Given the description of an element on the screen output the (x, y) to click on. 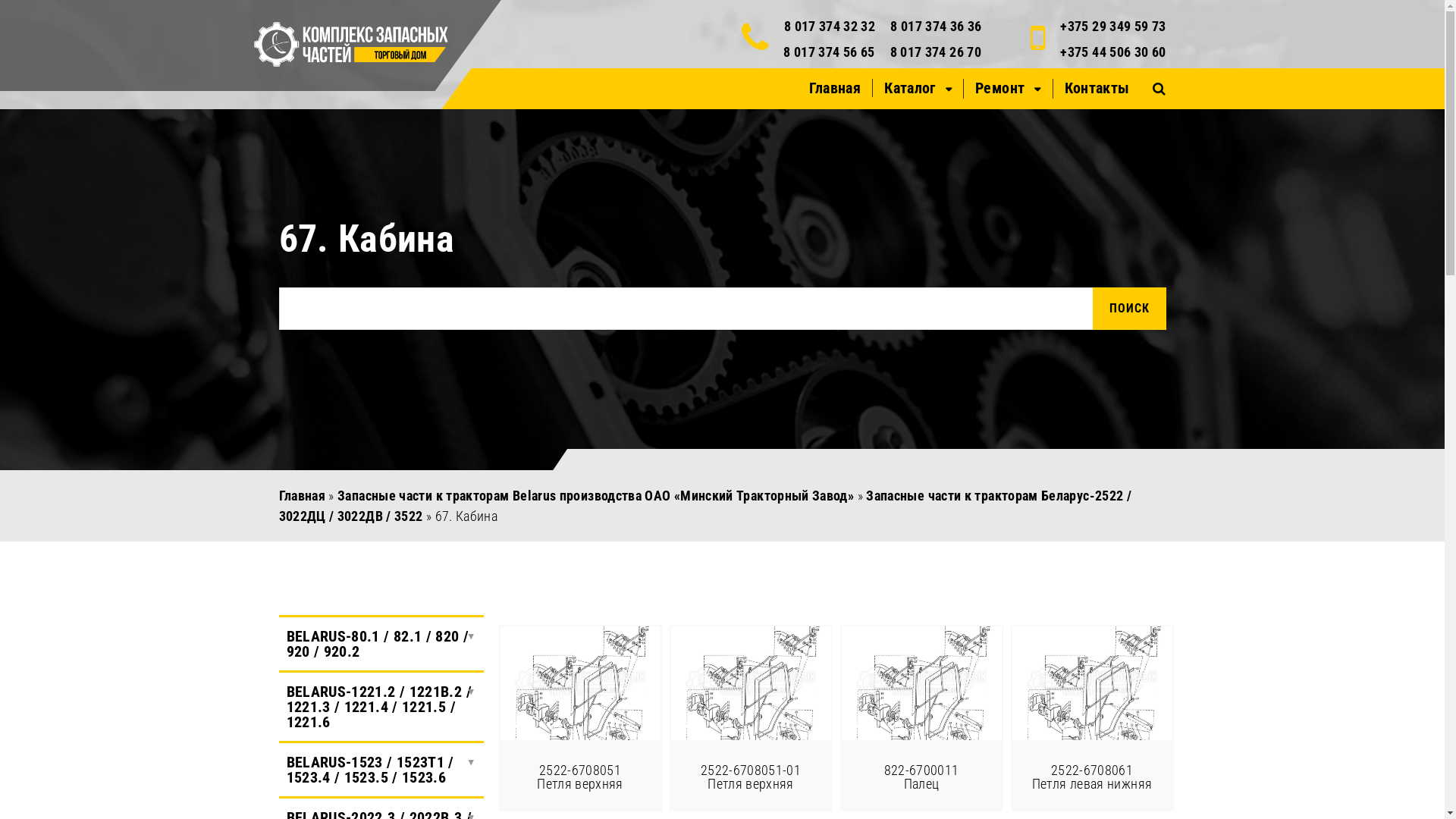
8 017 374 36 36 Element type: text (935, 26)
+375 29 349 59 73 Element type: text (1112, 26)
8 017 374 26 70 Element type: text (935, 51)
+375 44 506 30 60 Element type: text (1112, 51)
822-6700011 Element type: hover (921, 683)
BELARUS-80.1 / 82.1 / 820 / 920 / 920.2 Element type: text (381, 643)
8 017 374 56 65 Element type: text (828, 51)
2522-6708051 Element type: hover (580, 683)
BELARUS-1221.2 / 1221B.2 / 1221.3 / 1221.4 / 1221.5 / 1221.6 Element type: text (381, 706)
2522-6708051-01 Element type: hover (750, 683)
2522-6708061 Element type: hover (1091, 683)
8 017 374 32 32 Element type: text (829, 26)
BELARUS-1523 / 1523T1 / 1523.4 / 1523.5 / 1523.6 Element type: text (381, 769)
